Given the description of an element on the screen output the (x, y) to click on. 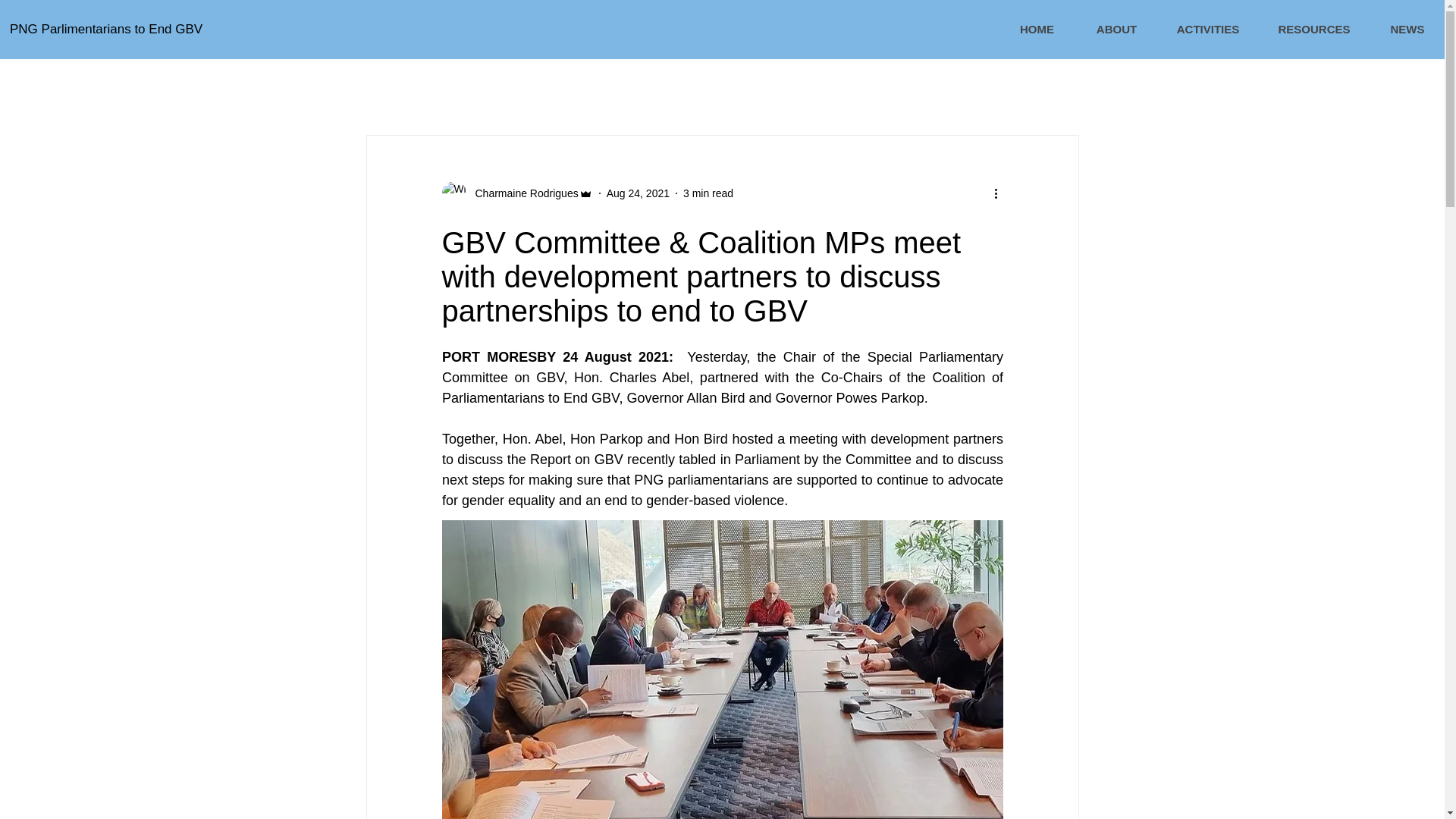
Charmaine Rodrigues (521, 192)
3 min read (707, 192)
PNG Parlimentarians to End GBV (208, 28)
HOME (1036, 29)
RESOURCES (1313, 29)
Aug 24, 2021 (638, 192)
ABOUT (1116, 29)
ACTIVITIES (1207, 29)
Charmaine Rodrigues (516, 192)
